Given the description of an element on the screen output the (x, y) to click on. 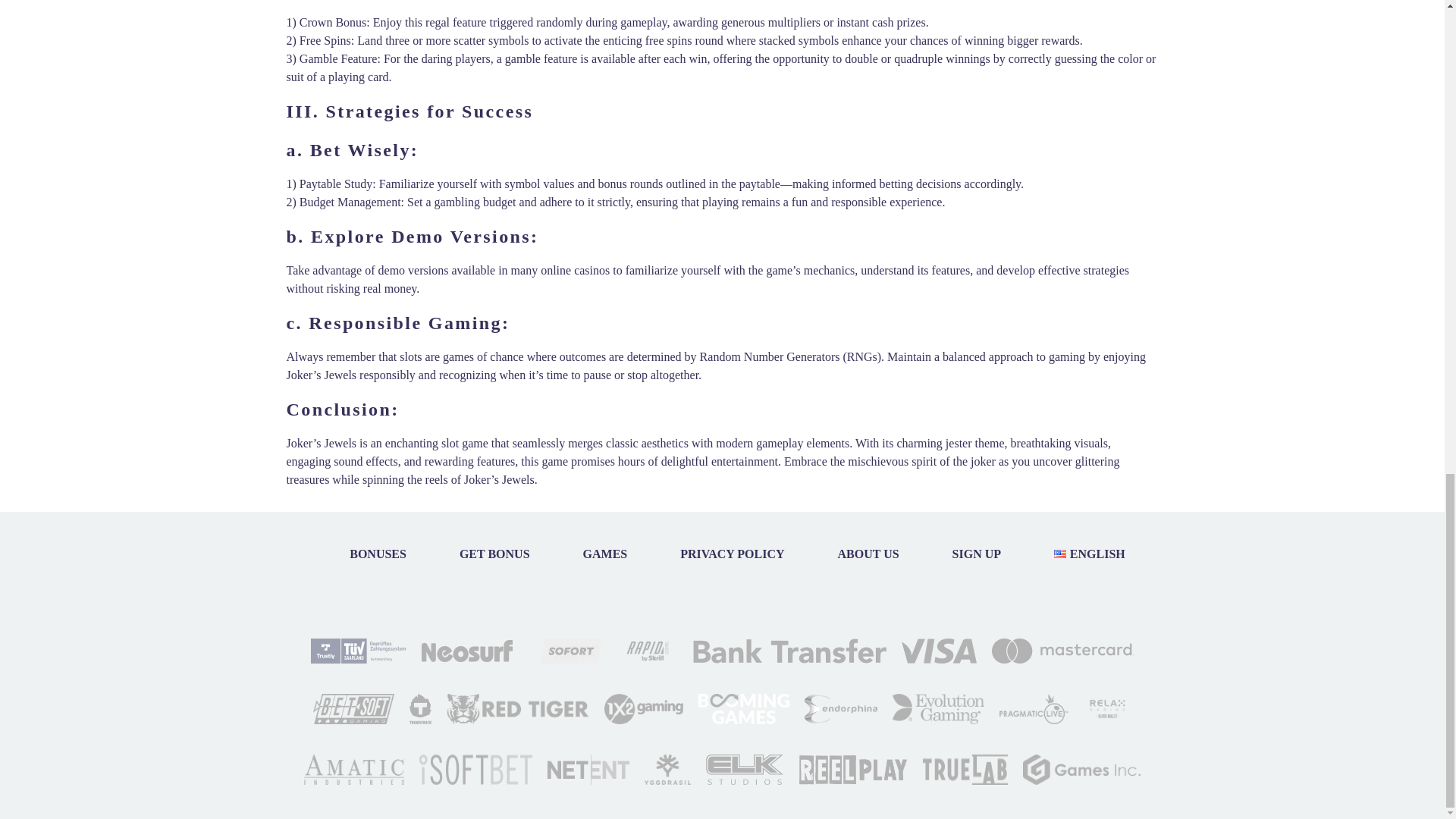
GAMES (605, 554)
ENGLISH (1089, 554)
BONUSES (378, 554)
GET BONUS (494, 554)
ABOUT US (868, 554)
PRIVACY POLICY (732, 554)
SIGN UP (976, 554)
